Given the description of an element on the screen output the (x, y) to click on. 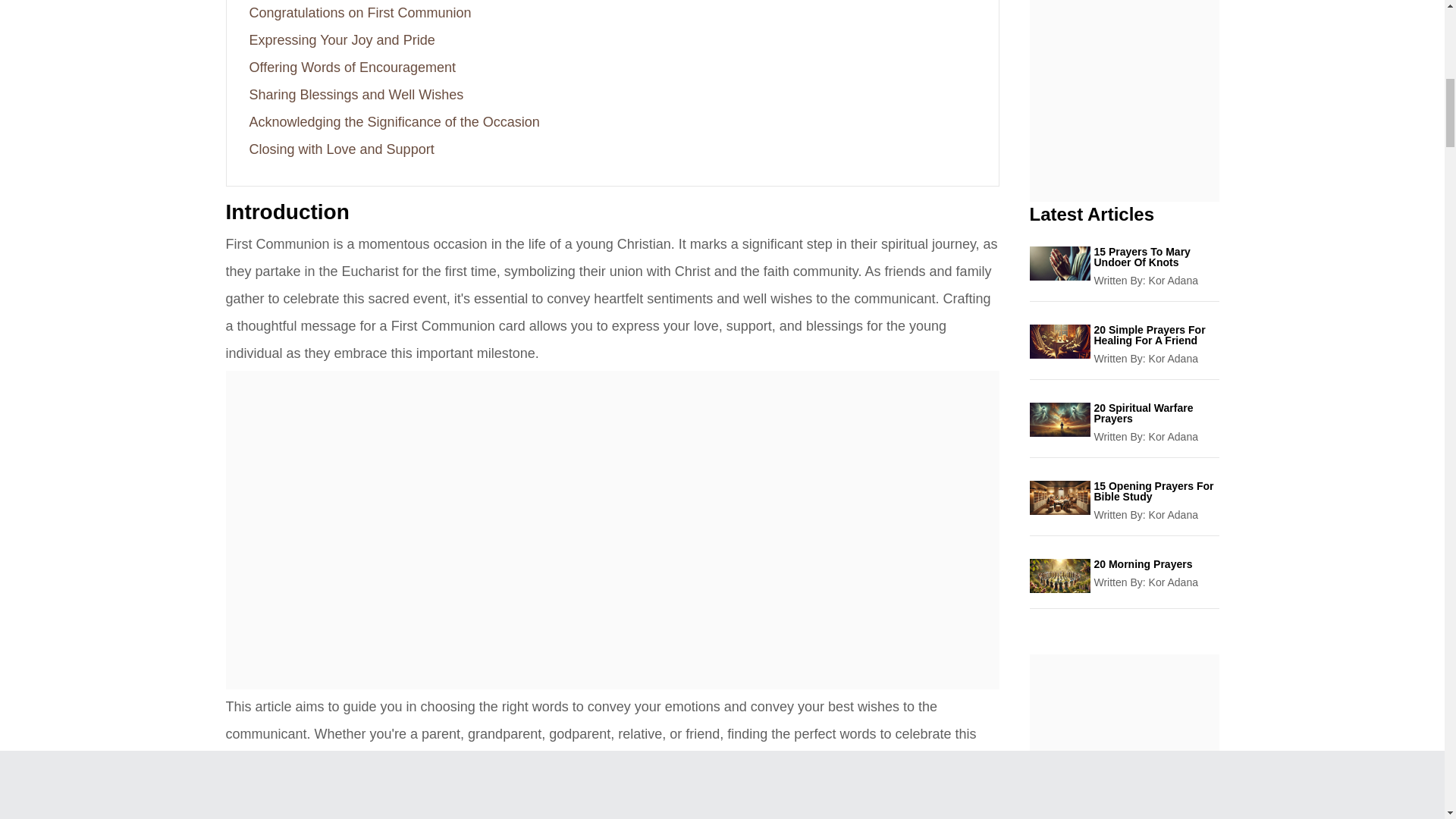
Offering Words of Encouragement (351, 67)
Expressing Your Joy and Pride (340, 39)
Sharing Blessings and Well Wishes (355, 94)
Congratulations on First Communion (359, 12)
